Given the description of an element on the screen output the (x, y) to click on. 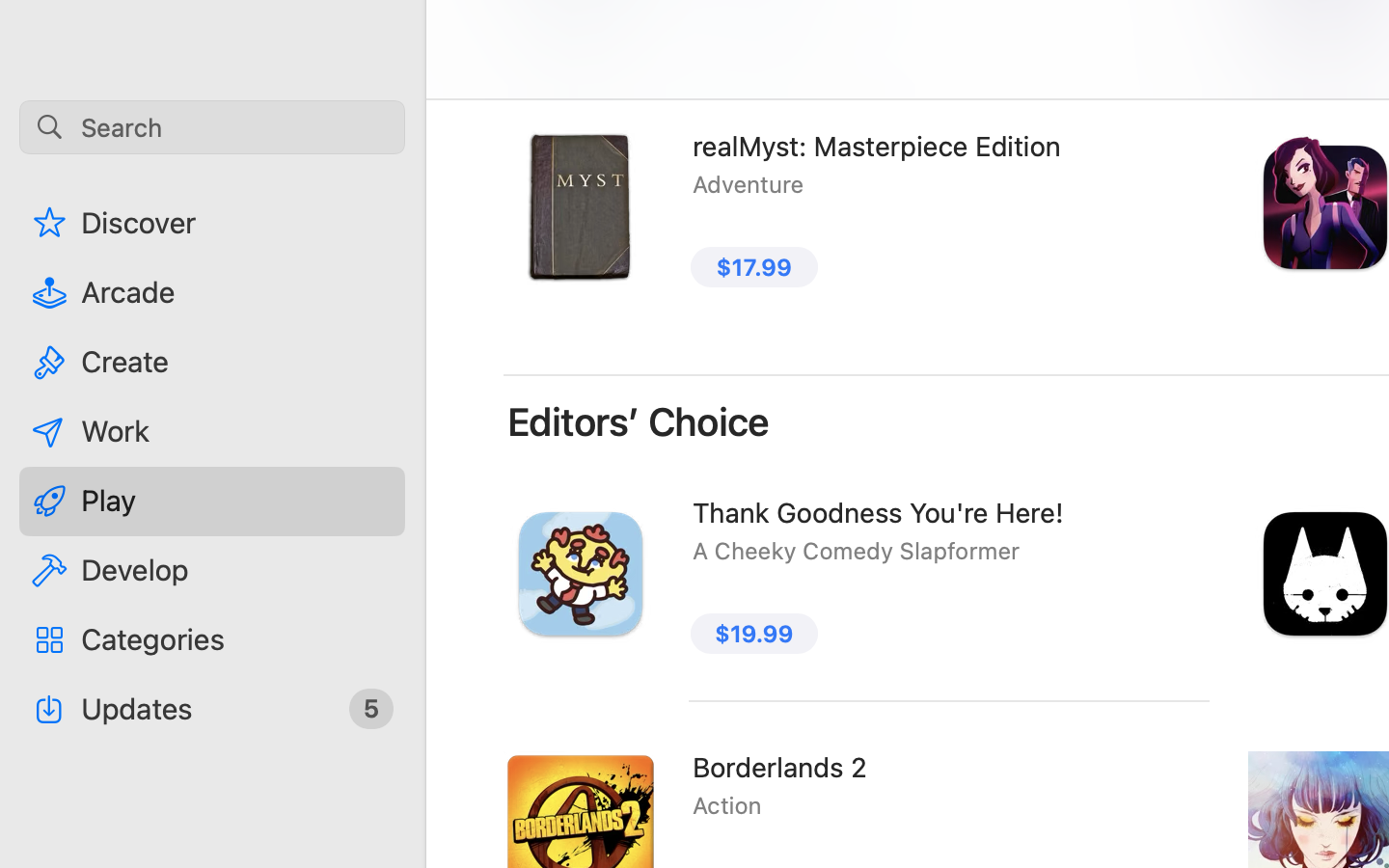
Editors’ Choice Element type: AXStaticText (638, 422)
